Given the description of an element on the screen output the (x, y) to click on. 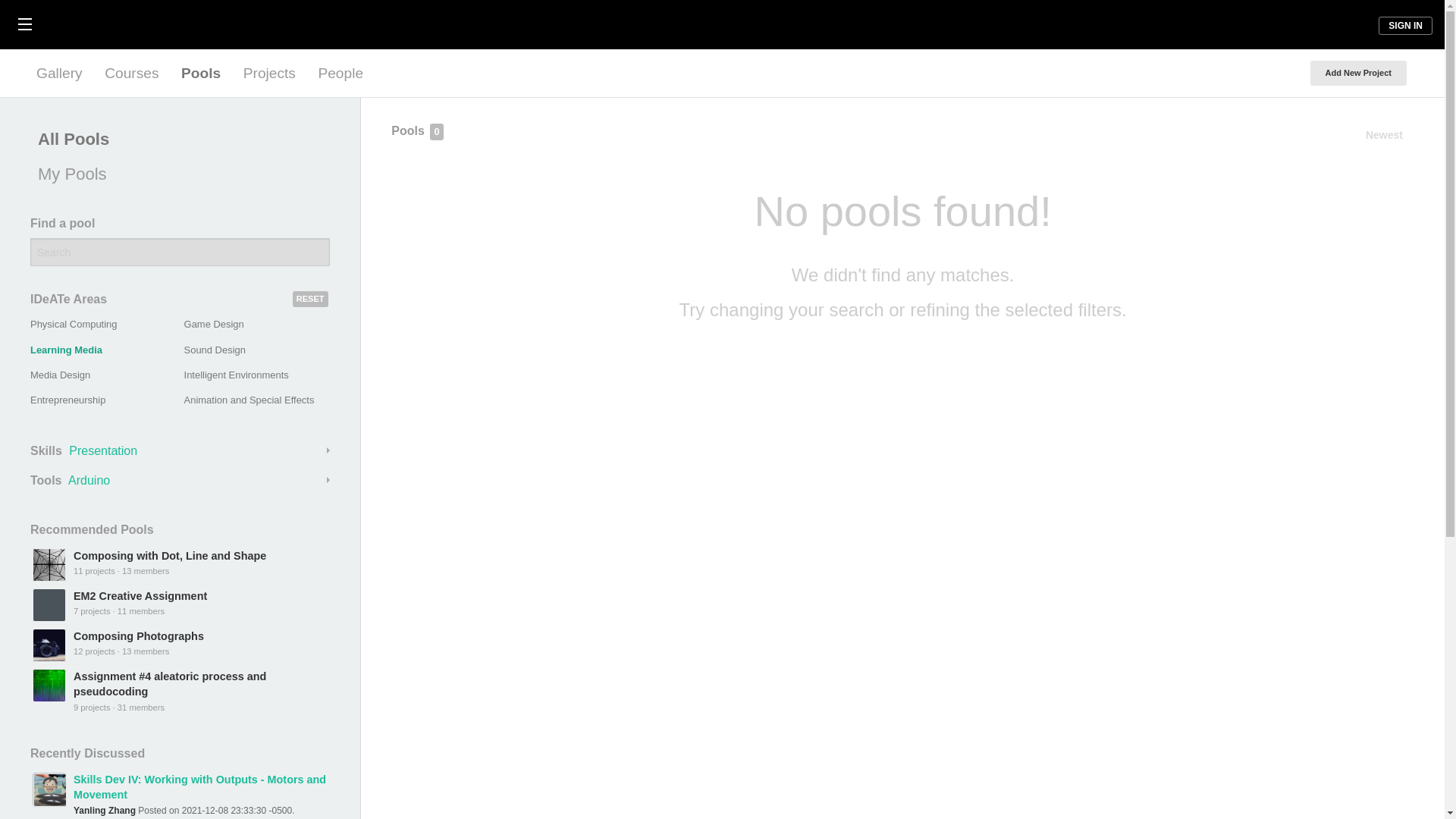
Gallery (59, 73)
Physical Computing (73, 324)
Media Design (60, 374)
Courses (131, 73)
Skills Presentation (180, 451)
Game Design (214, 324)
Intelligent Environments (236, 374)
Learning Media (65, 349)
Add New Project (1358, 72)
My Pools (175, 174)
Pools (200, 73)
Projects (268, 73)
RESET (310, 299)
People (340, 73)
Sound Design (215, 349)
